Given the description of an element on the screen output the (x, y) to click on. 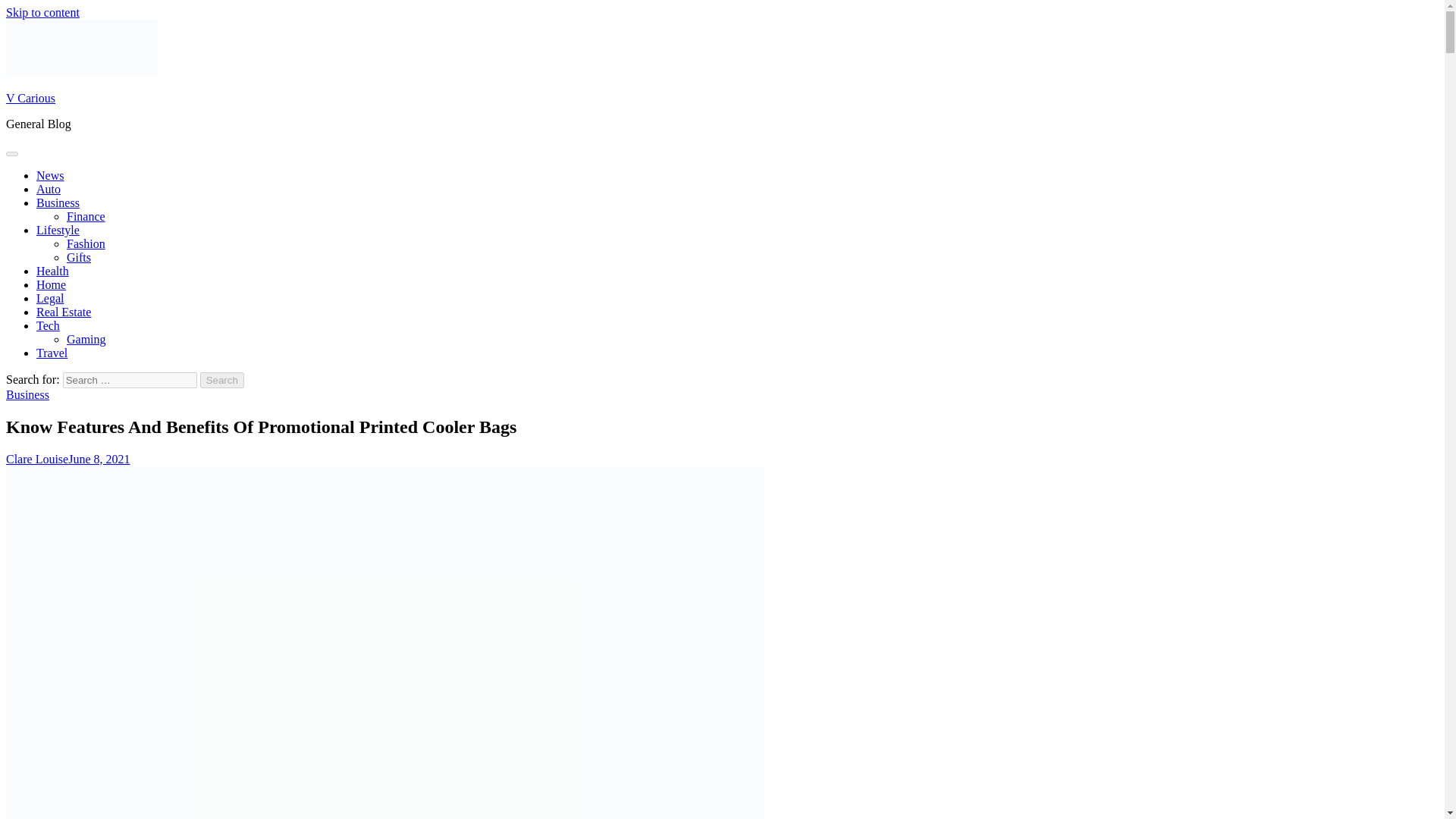
V Carious (30, 97)
Skip to content (42, 11)
Home (50, 284)
Auto (48, 188)
Business (58, 202)
Gaming (86, 338)
Fashion (85, 243)
Gifts (78, 256)
Business (27, 394)
Search (222, 380)
Search (222, 380)
Travel (51, 352)
Clare Louise (36, 459)
News (50, 174)
Search (222, 380)
